Given the description of an element on the screen output the (x, y) to click on. 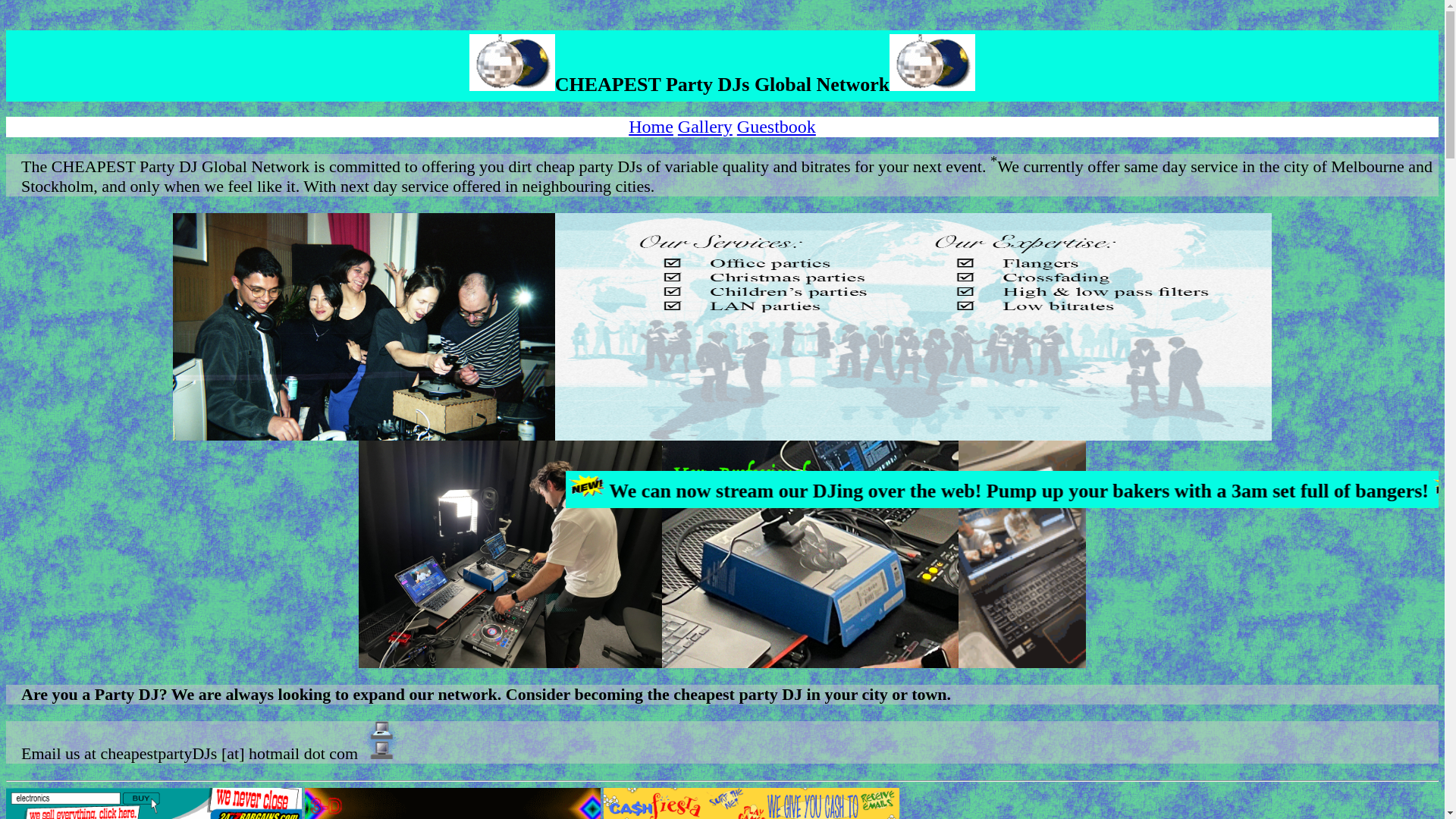
Gallery (705, 126)
Guestbook (775, 126)
Home (650, 126)
